Given the description of an element on the screen output the (x, y) to click on. 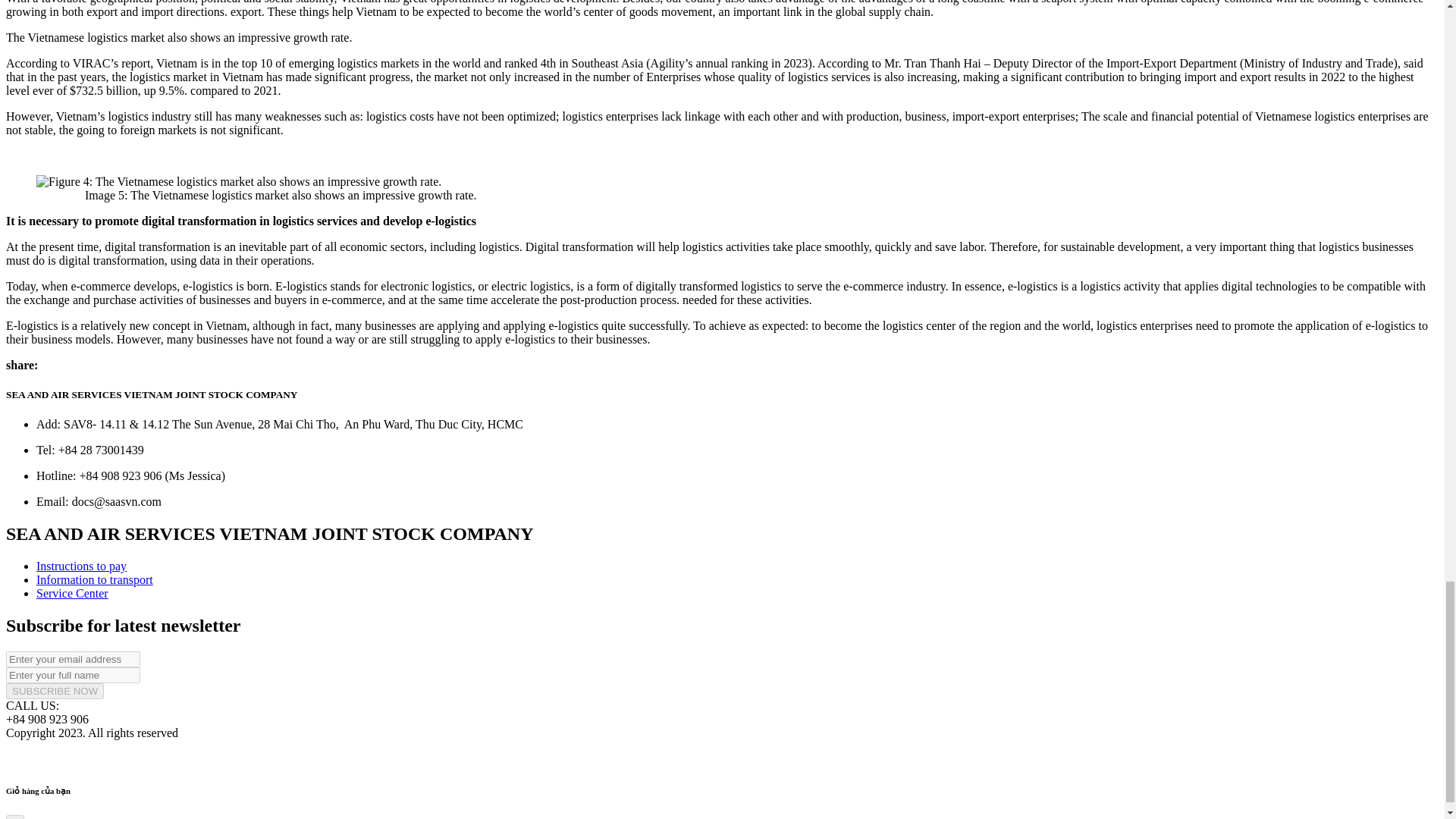
SUBSCRIBE NOW (54, 691)
